Given the description of an element on the screen output the (x, y) to click on. 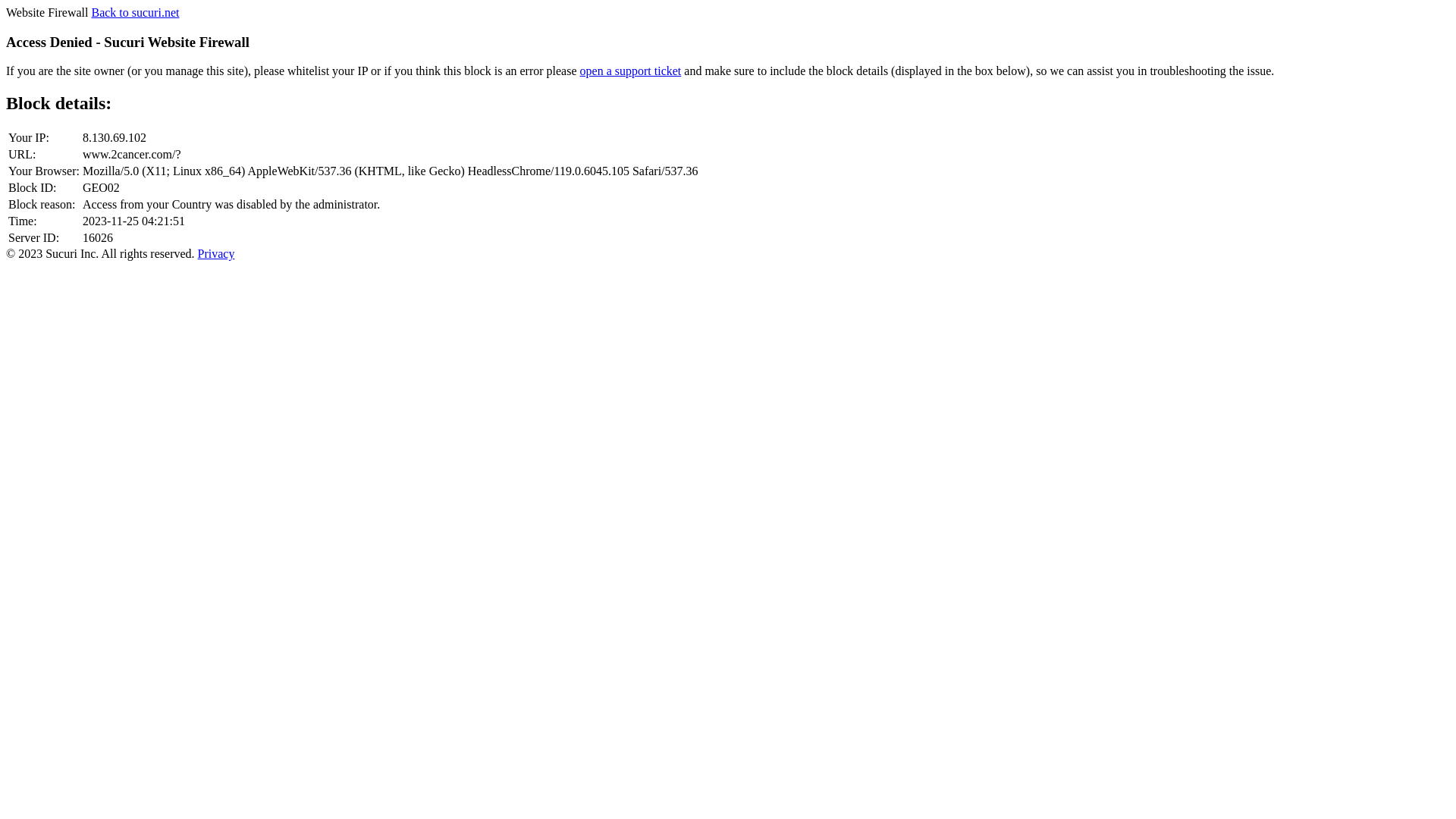
Back to sucuri.net Element type: text (134, 12)
open a support ticket Element type: text (630, 70)
Privacy Element type: text (216, 253)
